Given the description of an element on the screen output the (x, y) to click on. 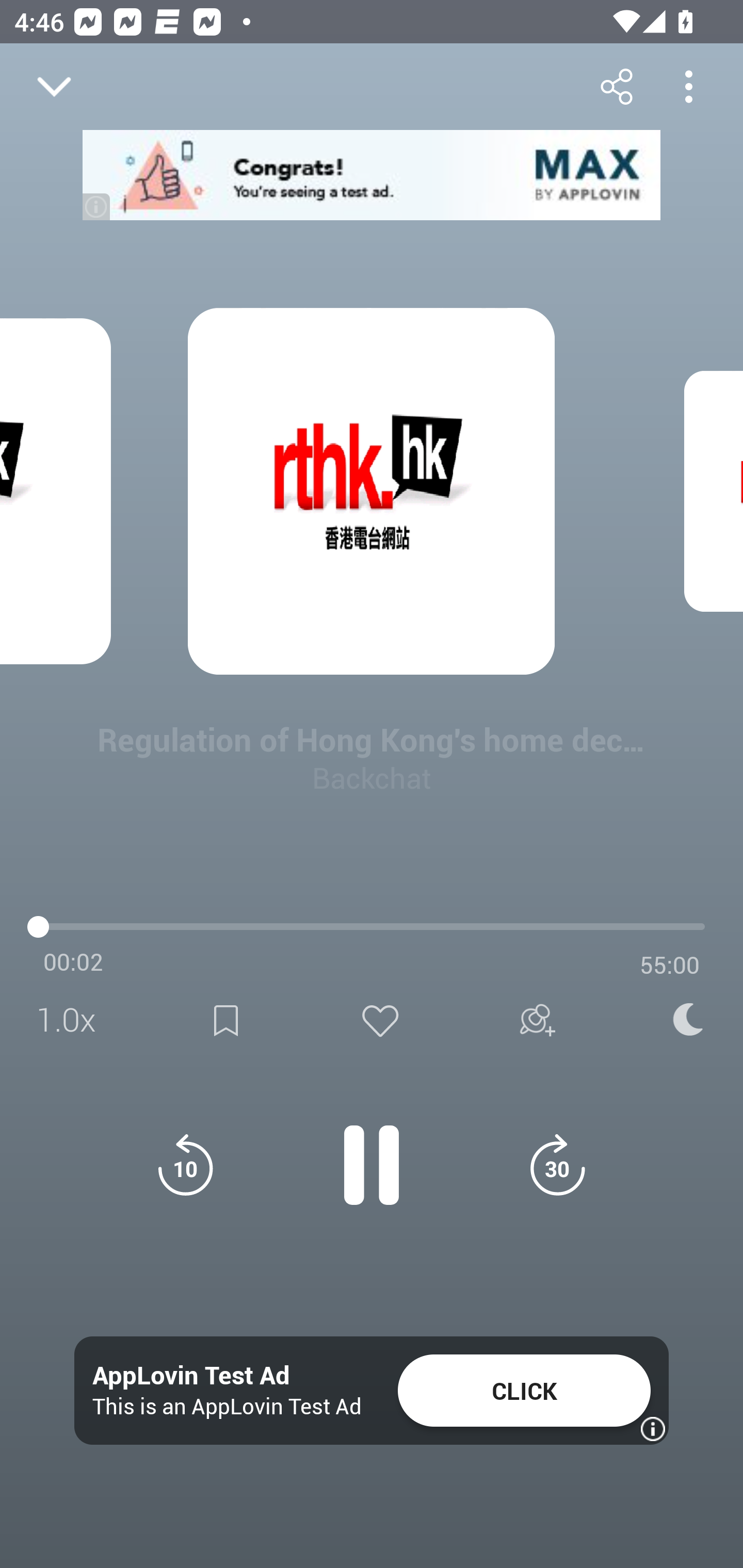
Close fullscreen player (54, 86)
Share (616, 86)
More options (688, 86)
app-monetization (371, 175)
(i) (96, 206)
Backchat (371, 776)
55:00 (669, 964)
1.0x Speed (72, 1020)
Like (380, 1020)
Pause button (371, 1153)
Jump back (185, 1164)
Jump forward (557, 1164)
CLICK (523, 1390)
AppLovin Test Ad (191, 1375)
This is an AppLovin Test Ad (226, 1406)
